Given the description of an element on the screen output the (x, y) to click on. 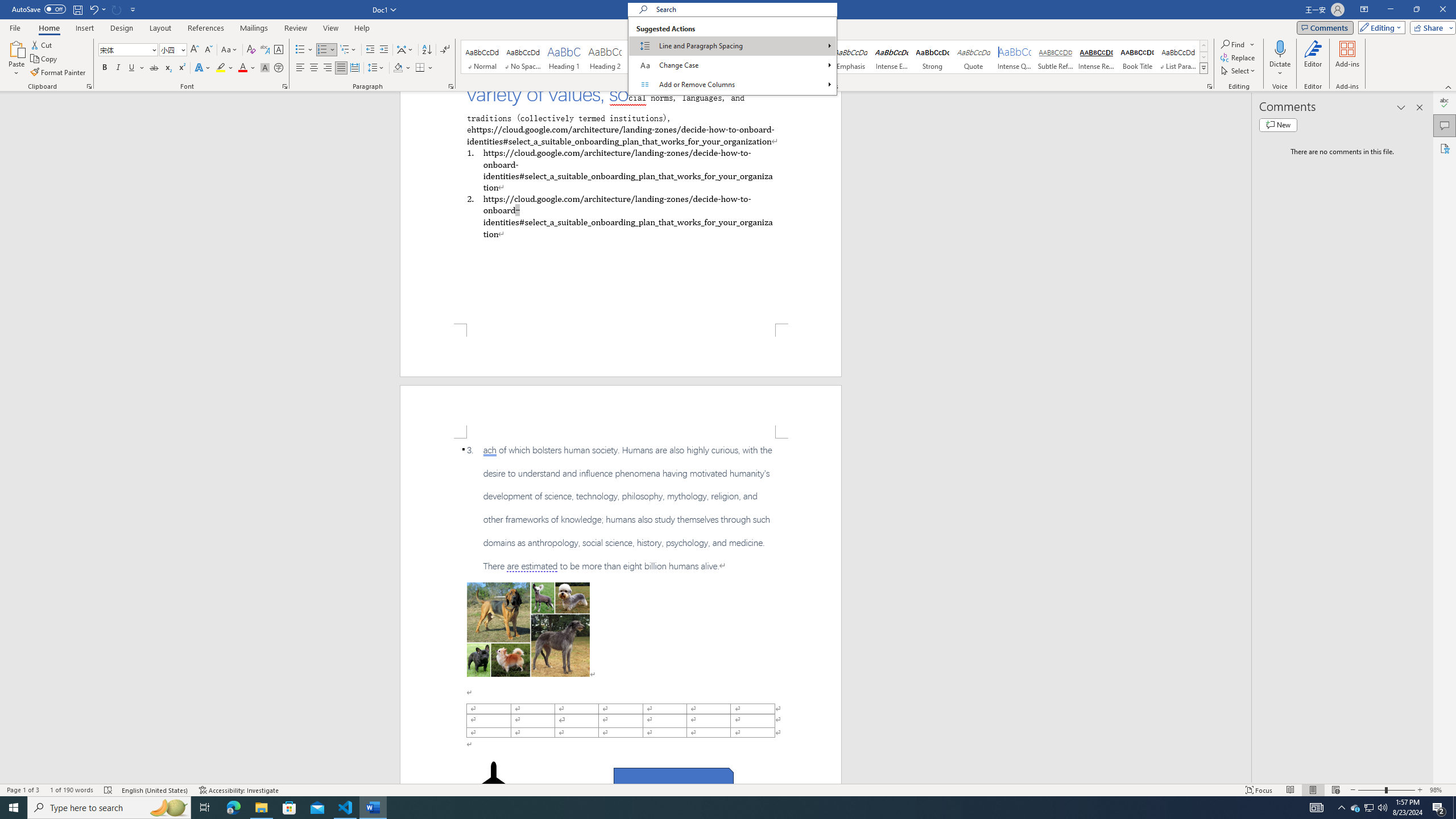
Quote (973, 56)
Open (182, 49)
Quick Access Toolbar (74, 9)
Shading RGB(0, 0, 0) (397, 67)
Font Size (169, 49)
References (205, 28)
Help (361, 28)
Ribbon Display Options (1364, 9)
Morphological variation in six dogs (528, 629)
Restore Down (1416, 9)
Bullets (304, 49)
Close pane (1419, 107)
Accessibility (1444, 147)
Text Highlight Color (224, 67)
